Given the description of an element on the screen output the (x, y) to click on. 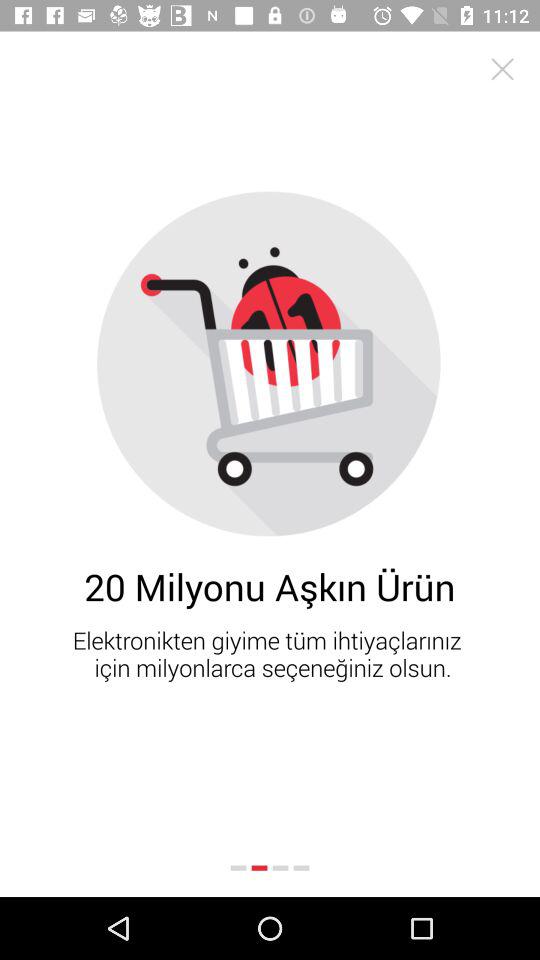
press the icon at the top right corner (502, 68)
